Given the description of an element on the screen output the (x, y) to click on. 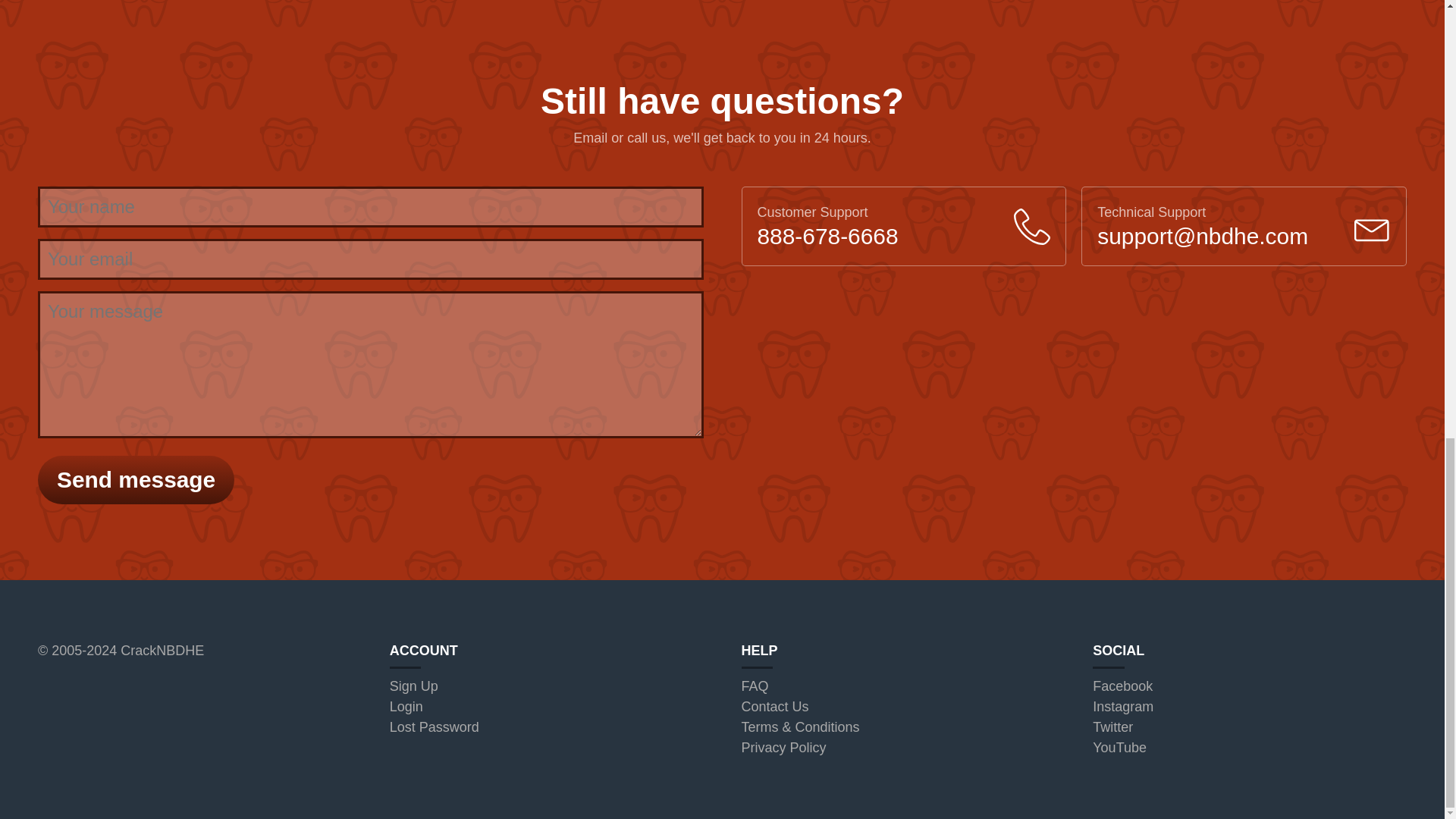
Login (406, 706)
YouTube (1120, 747)
Follow us on Facebook (1123, 685)
Twitter (1112, 726)
Email us (1202, 235)
Privacy Policy (784, 747)
Facebook (1123, 685)
Sign Up (414, 685)
888-678-6668 (827, 235)
Call us (827, 235)
Contact Us (775, 706)
Follow us on YouTube (1120, 747)
Lost Password (434, 726)
FAQ (754, 685)
Follow us on Instagram (1123, 706)
